Given the description of an element on the screen output the (x, y) to click on. 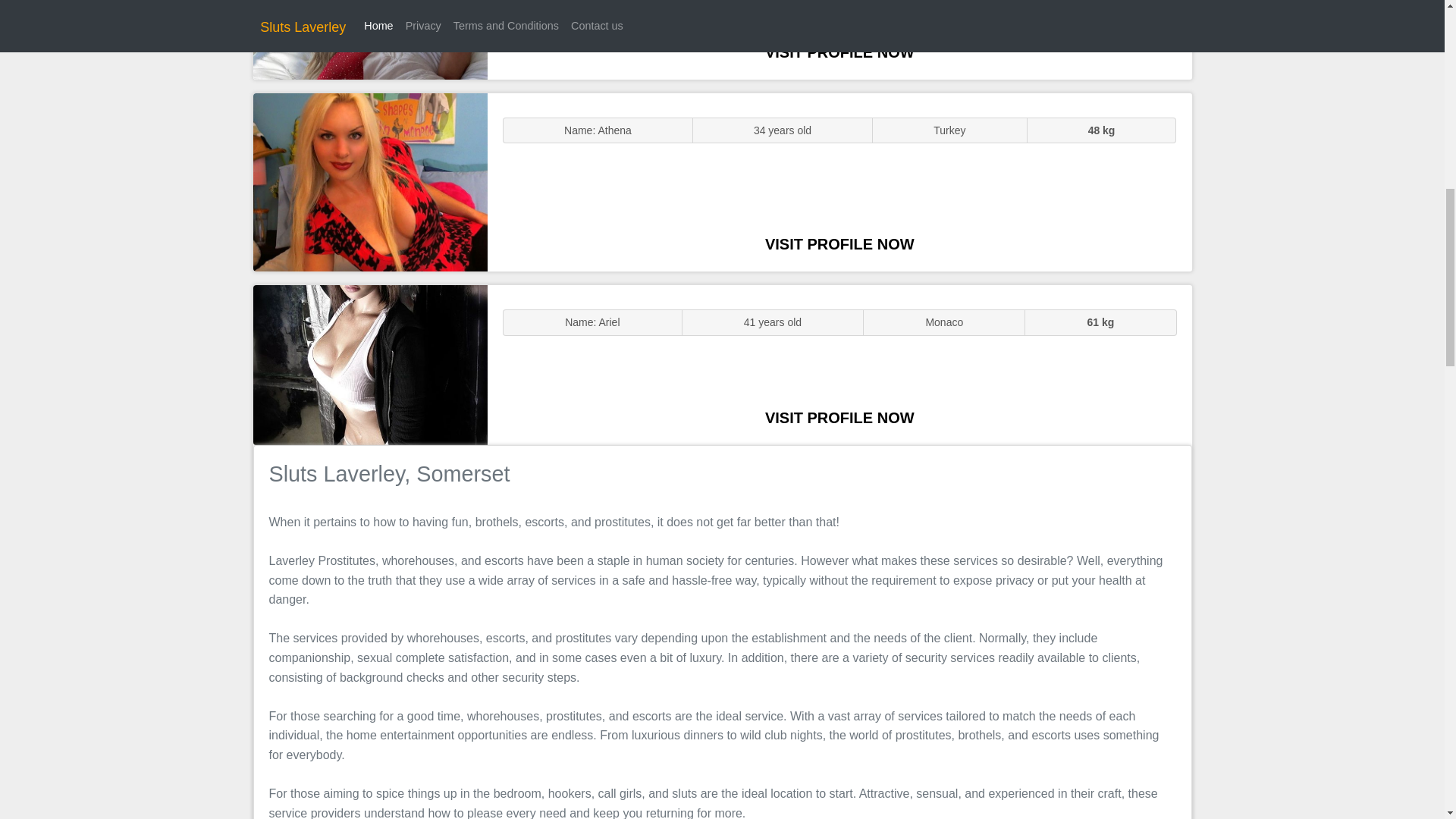
VISIT PROFILE NOW (839, 417)
Sluts (370, 39)
VISIT PROFILE NOW (839, 52)
Massage (370, 364)
Sluts (370, 182)
VISIT PROFILE NOW (839, 243)
